Given the description of an element on the screen output the (x, y) to click on. 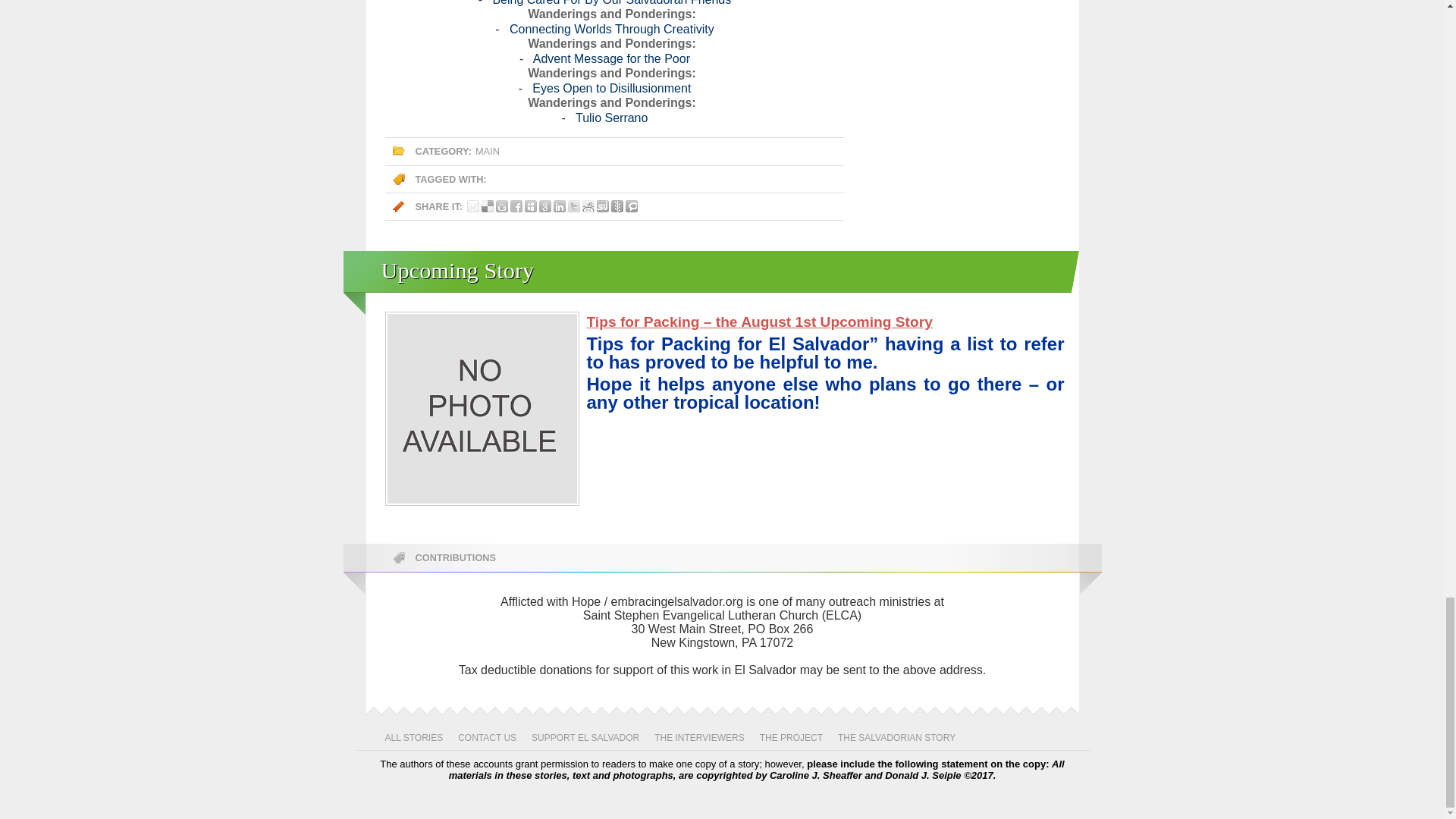
SHARE THIS POST ON FACEBOOK (516, 205)
Tulio Serrano (611, 117)
SHARE THIS POST ON TECHNORATI (631, 205)
Share this post on Newsvine (617, 205)
Share this post on Stumbleupon (602, 205)
SHARE THIS POST ON DELICIOUS (487, 205)
Share this post on Facebook (516, 205)
Send a link to this post by email (473, 205)
Advent Message for the Poor (611, 58)
Being Cared For By Our Salvadoran Friends (611, 2)
SHARE THIS POST ON DIGG (502, 205)
SHARE THIS POST ON LINKEDIN (559, 205)
Eyes Open to Disillusionment (611, 88)
SHARE THIS POST ON TWITTER (573, 205)
Share this post on Technorati (631, 205)
